Given the description of an element on the screen output the (x, y) to click on. 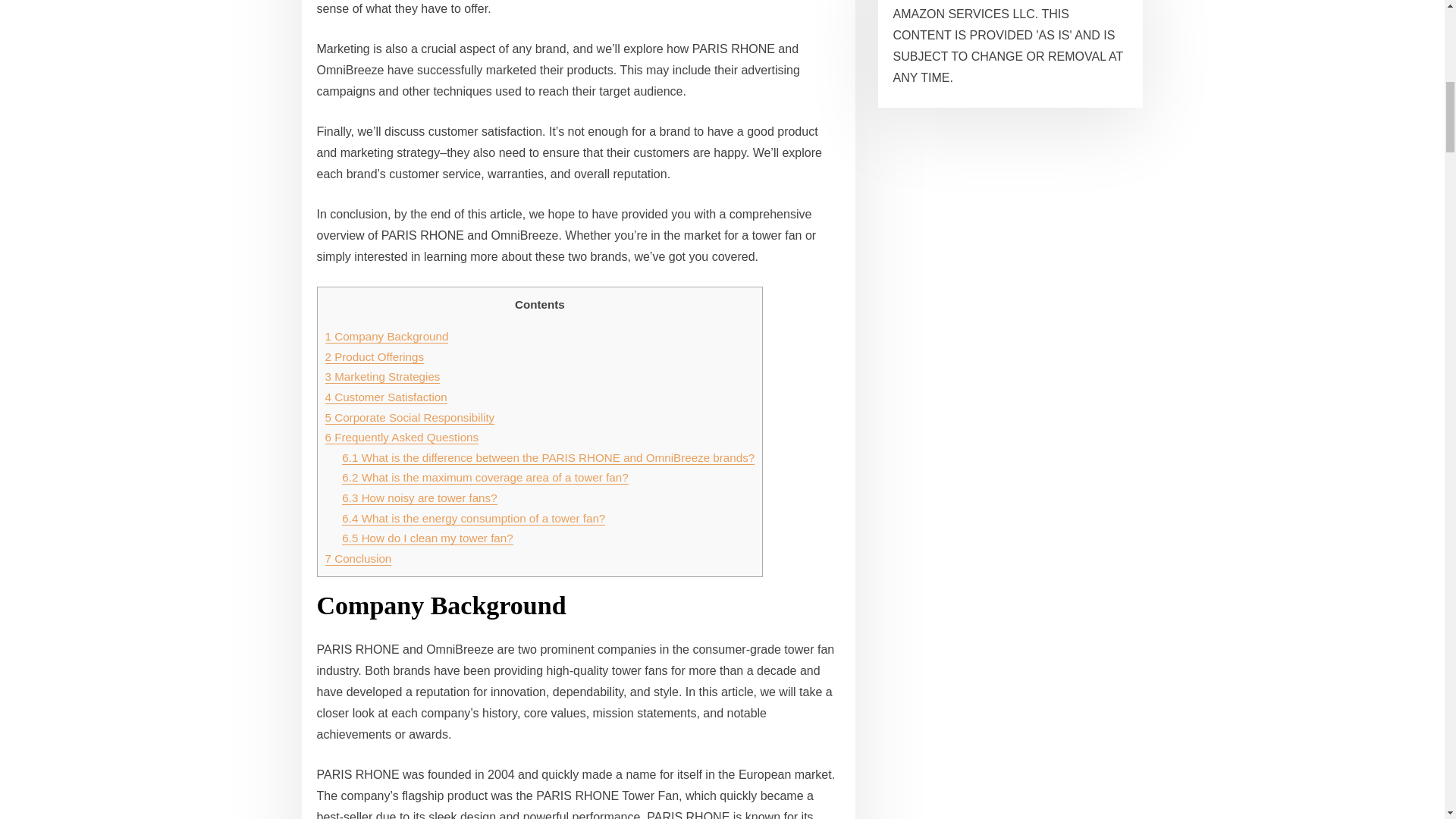
2 Product Offerings (373, 356)
6.2 What is the maximum coverage area of a tower fan? (484, 477)
4 Customer Satisfaction (385, 396)
6.4 What is the energy consumption of a tower fan? (473, 517)
3 Marketing Strategies (381, 376)
6 Frequently Asked Questions (401, 436)
6.5 How do I clean my tower fan? (427, 537)
1 Company Background (386, 336)
7 Conclusion (357, 558)
5 Corporate Social Responsibility (409, 417)
